Given the description of an element on the screen output the (x, y) to click on. 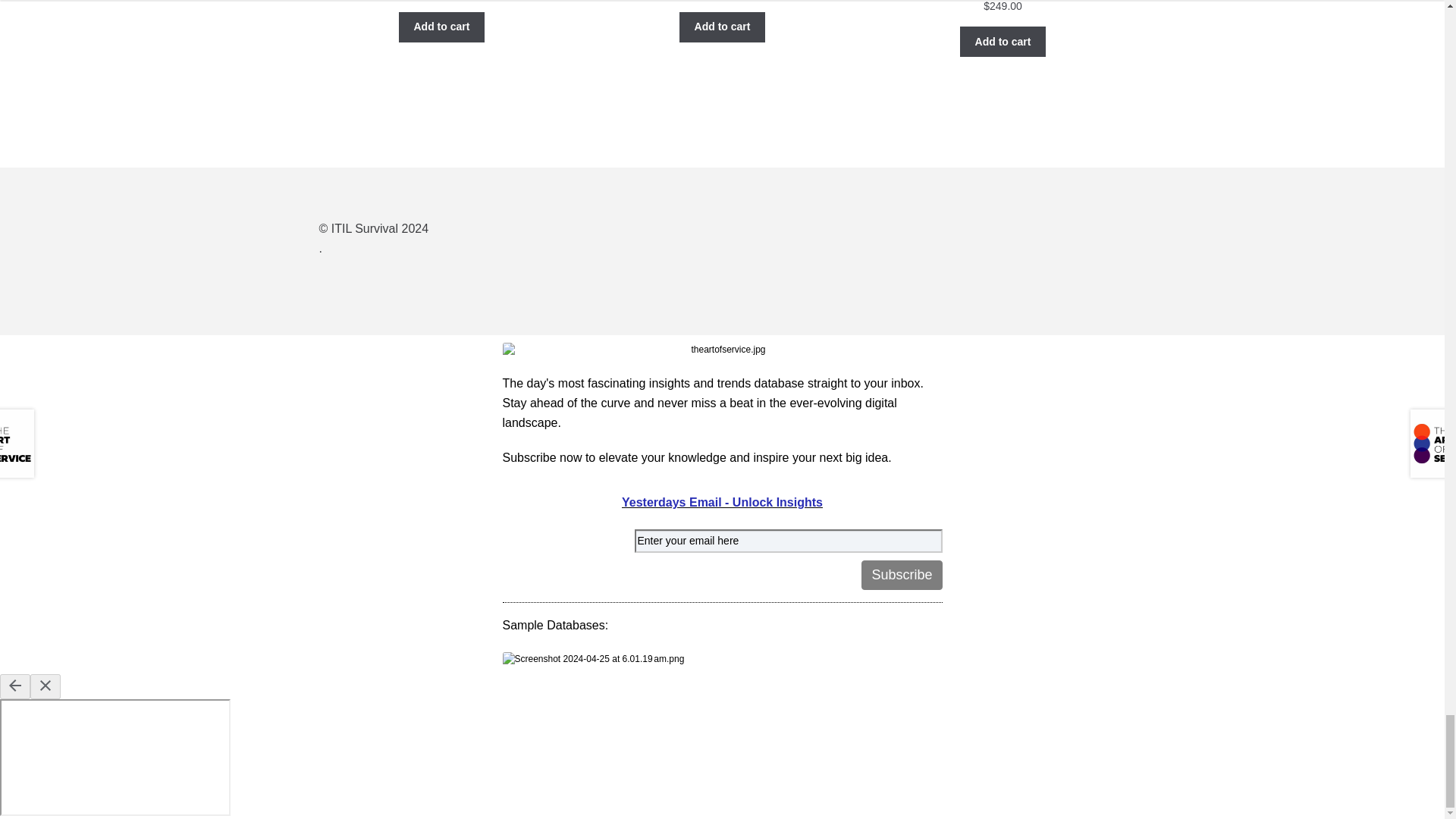
Add to cart (441, 27)
Subscribe (901, 574)
Add to cart (1002, 41)
Add to cart (722, 27)
Enter your email here (787, 540)
